Given the description of an element on the screen output the (x, y) to click on. 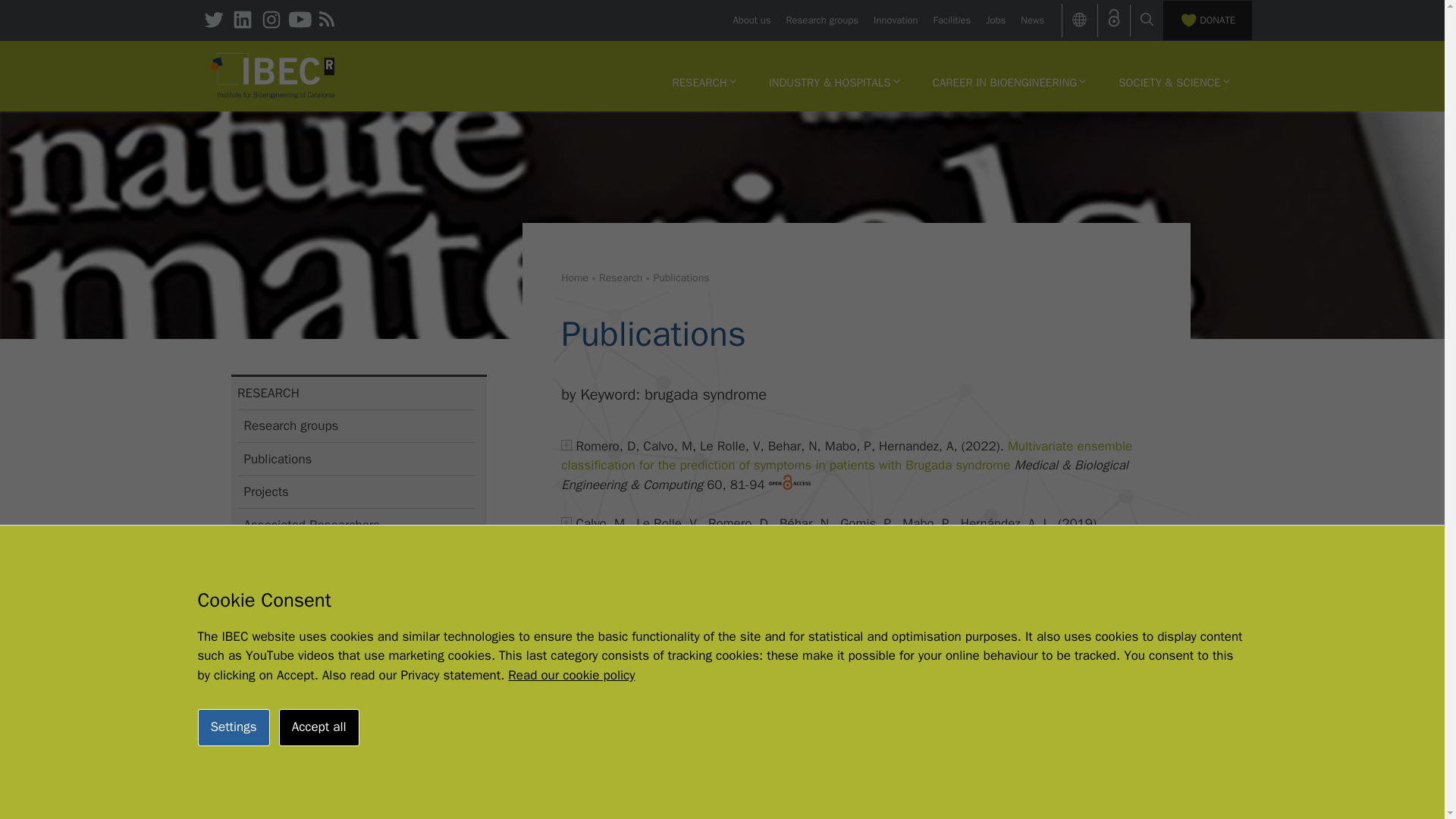
Innovation (895, 19)
Jobs (995, 19)
News (1031, 19)
DONATE (1207, 20)
RESEARCH (704, 81)
Research groups (822, 19)
Institute for Bioengineering of Catalonia (272, 74)
About us (751, 19)
Institute for Bioengineering of Catalonia (272, 75)
Facilities (952, 19)
